Given the description of an element on the screen output the (x, y) to click on. 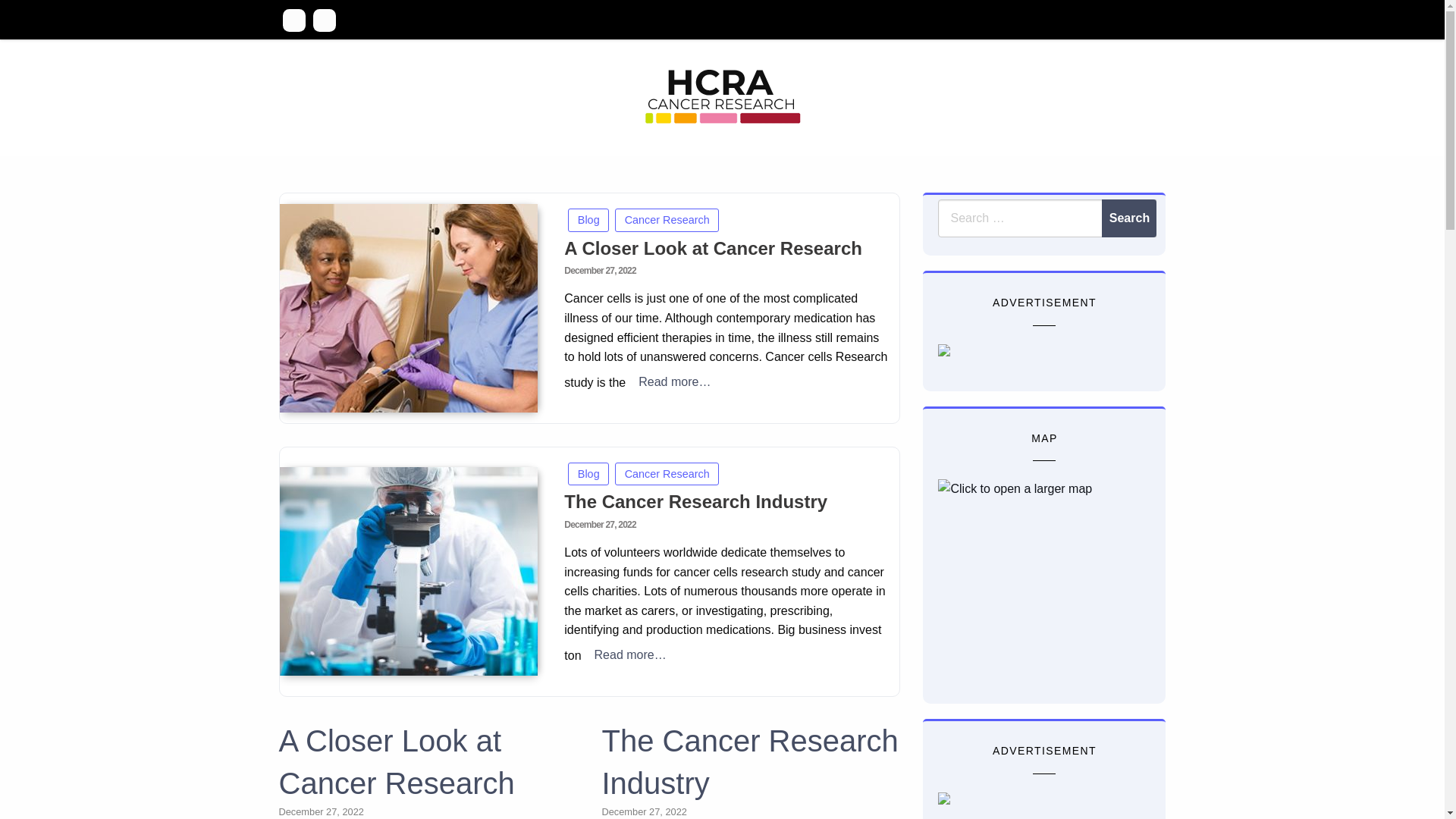
December 27, 2022 Element type: text (643, 811)
Cancer Research Element type: text (666, 474)
December 27, 2022 Element type: text (599, 524)
Click to open a larger map Element type: hover (1032, 573)
HCRA Element type: text (330, 158)
December 27, 2022 Element type: text (599, 270)
Cancer Research Element type: text (666, 220)
The Cancer Research Industry Element type: text (749, 762)
Search Element type: text (1128, 218)
Blog Element type: text (587, 220)
Blog Element type: text (587, 474)
The Cancer Research Industry Element type: hover (408, 571)
The Cancer Research Industry Element type: text (695, 501)
A Closer Look at Cancer Research Element type: text (713, 248)
A Closer Look at Cancer Research Element type: text (396, 762)
December 27, 2022 Element type: text (321, 811)
A Closer Look at Cancer Research Element type: hover (408, 307)
